Given the description of an element on the screen output the (x, y) to click on. 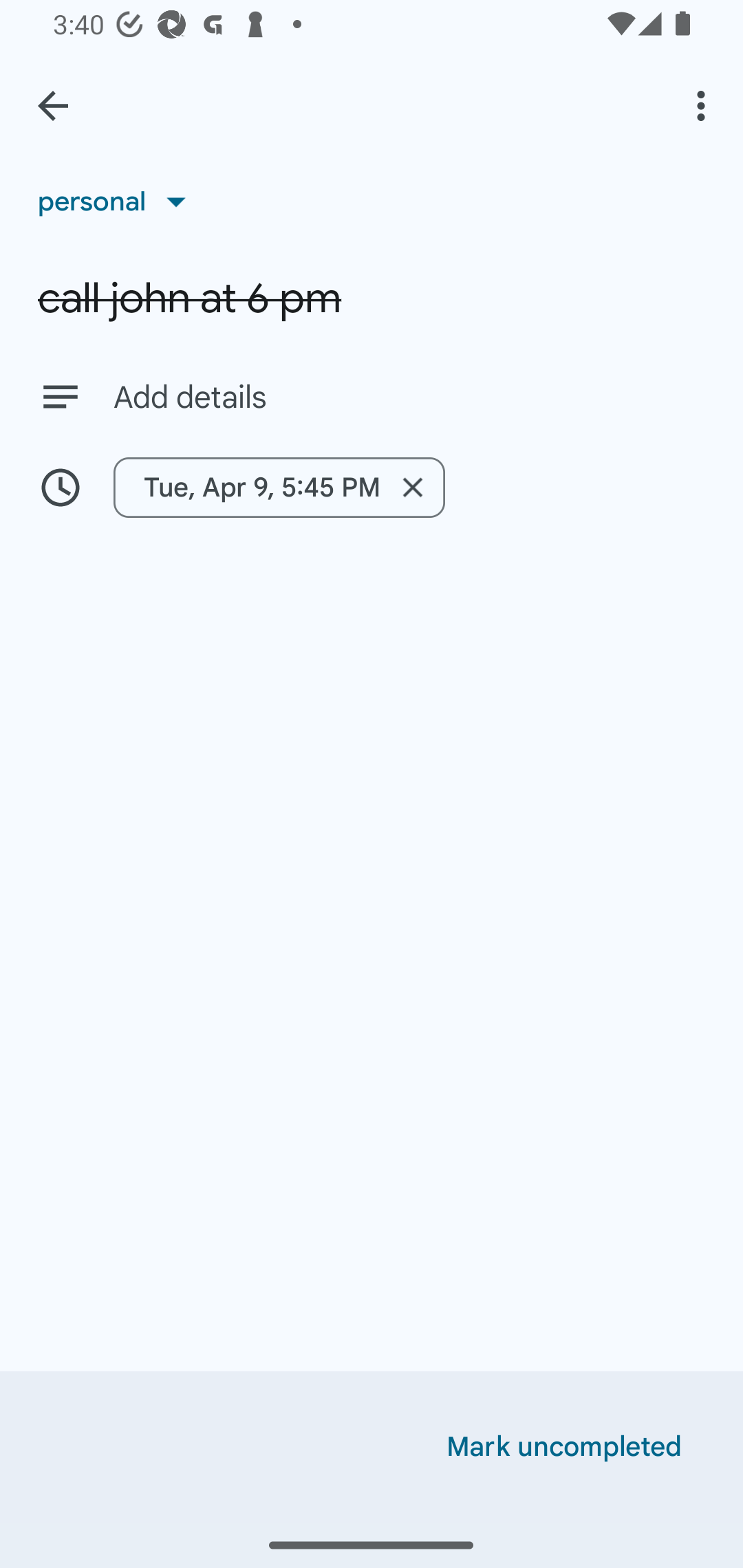
Back (53, 105)
More options (704, 105)
personal List, personal selected, 1 of 8 (118, 201)
call john at 6 pm (371, 298)
Add details (371, 396)
Add details (409, 397)
Tue, Apr 9, 5:45 PM Remove date/time (371, 487)
Tue, Apr 9, 5:45 PM Remove date/time (279, 487)
Mark uncompleted (564, 1446)
